Given the description of an element on the screen output the (x, y) to click on. 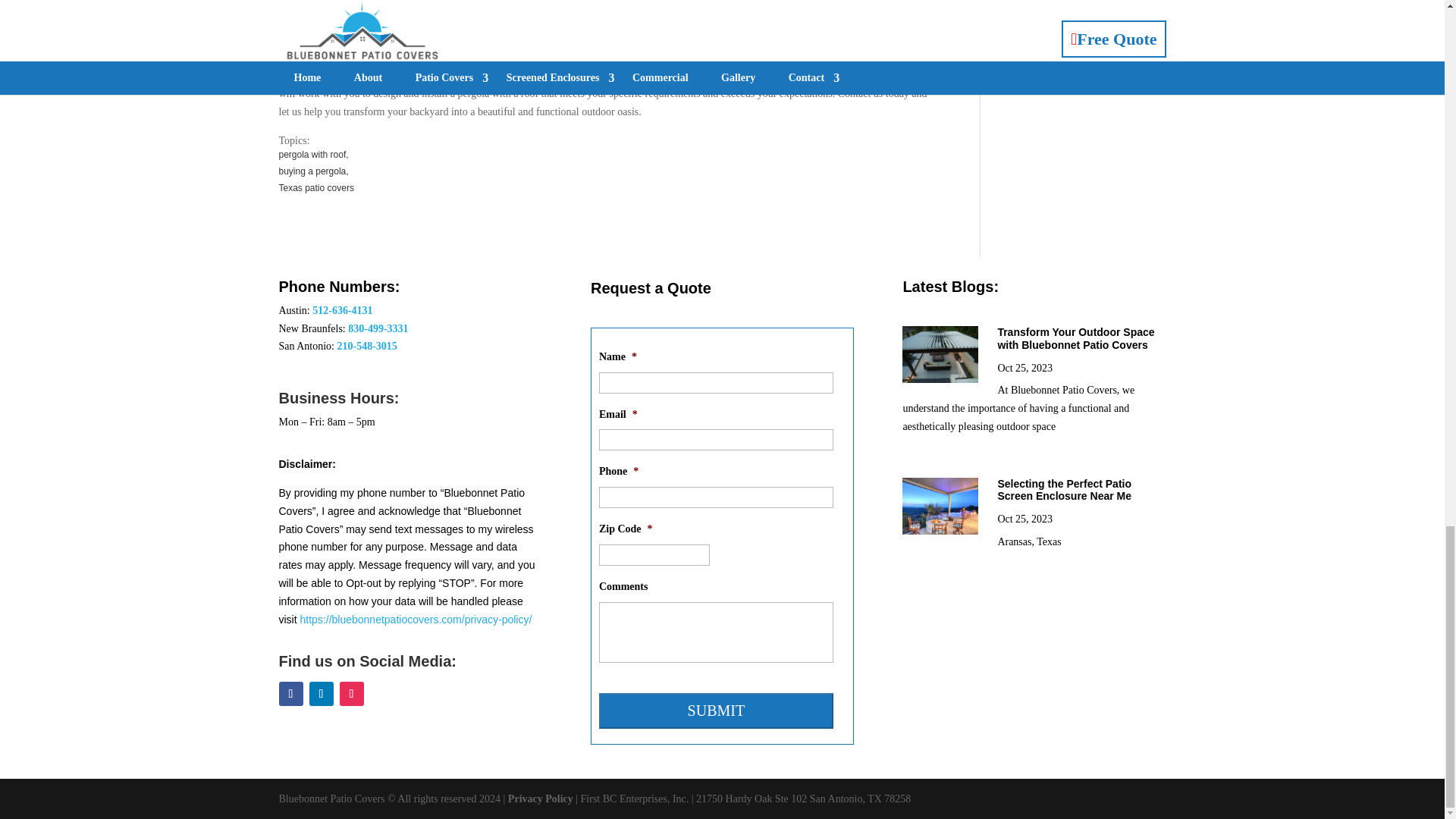
Privacy Policy (540, 798)
Submit (715, 710)
Follow on Instagram (351, 693)
Follow on Facebook (290, 693)
Follow on LinkedIn (320, 693)
